Given the description of an element on the screen output the (x, y) to click on. 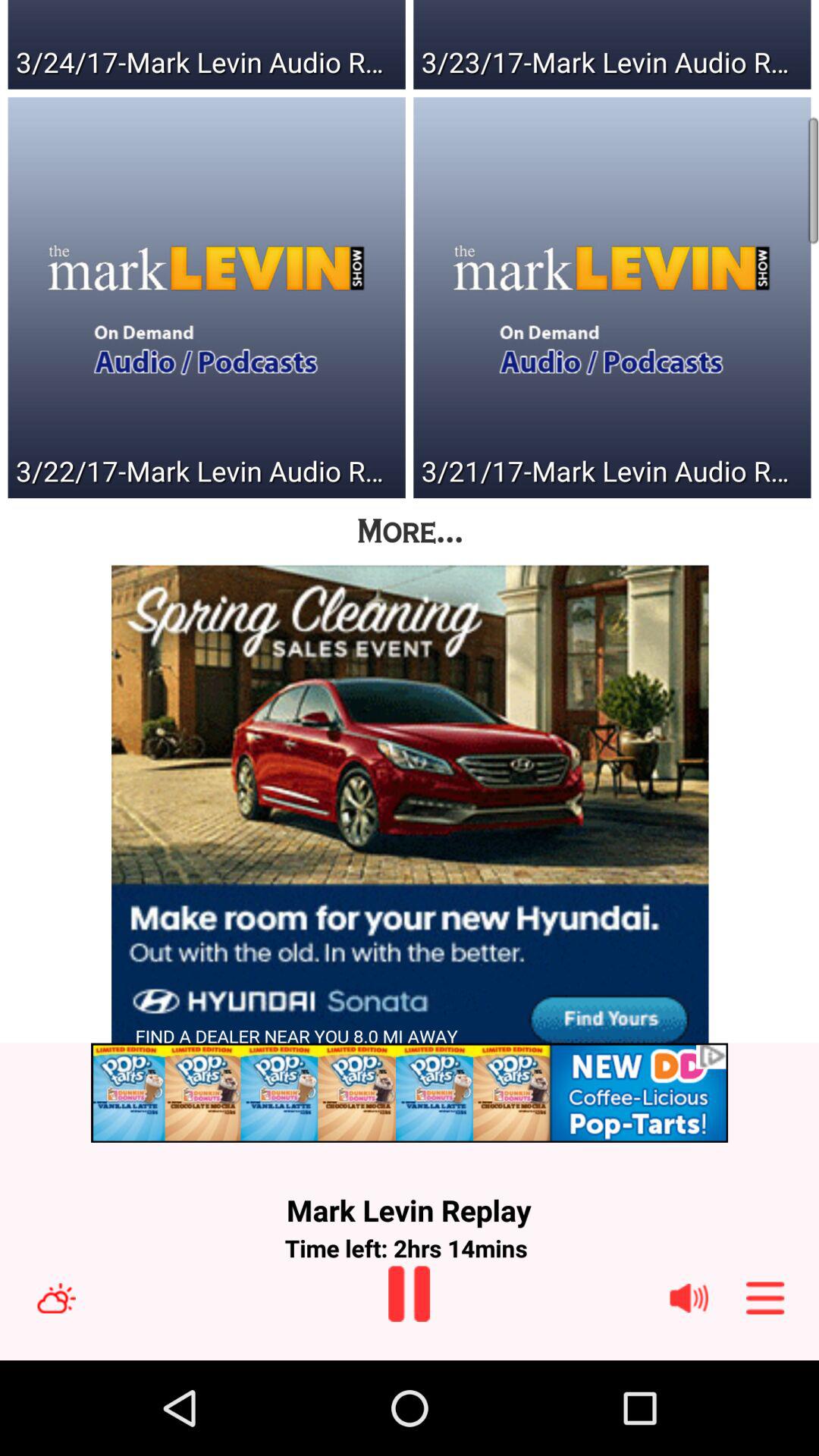
click the mute button (688, 1298)
